Given the description of an element on the screen output the (x, y) to click on. 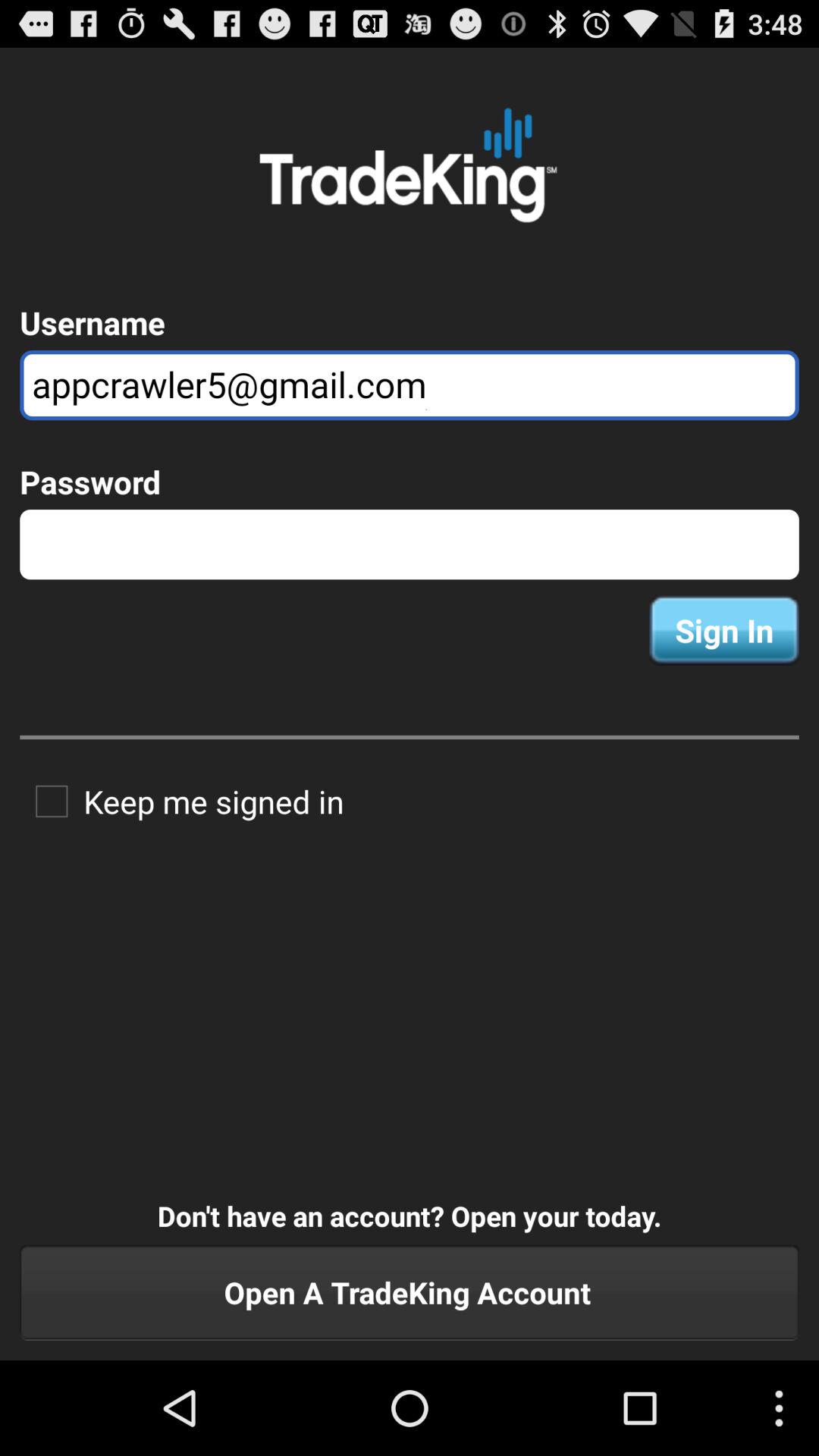
scroll to open a tradeking button (409, 1292)
